Given the description of an element on the screen output the (x, y) to click on. 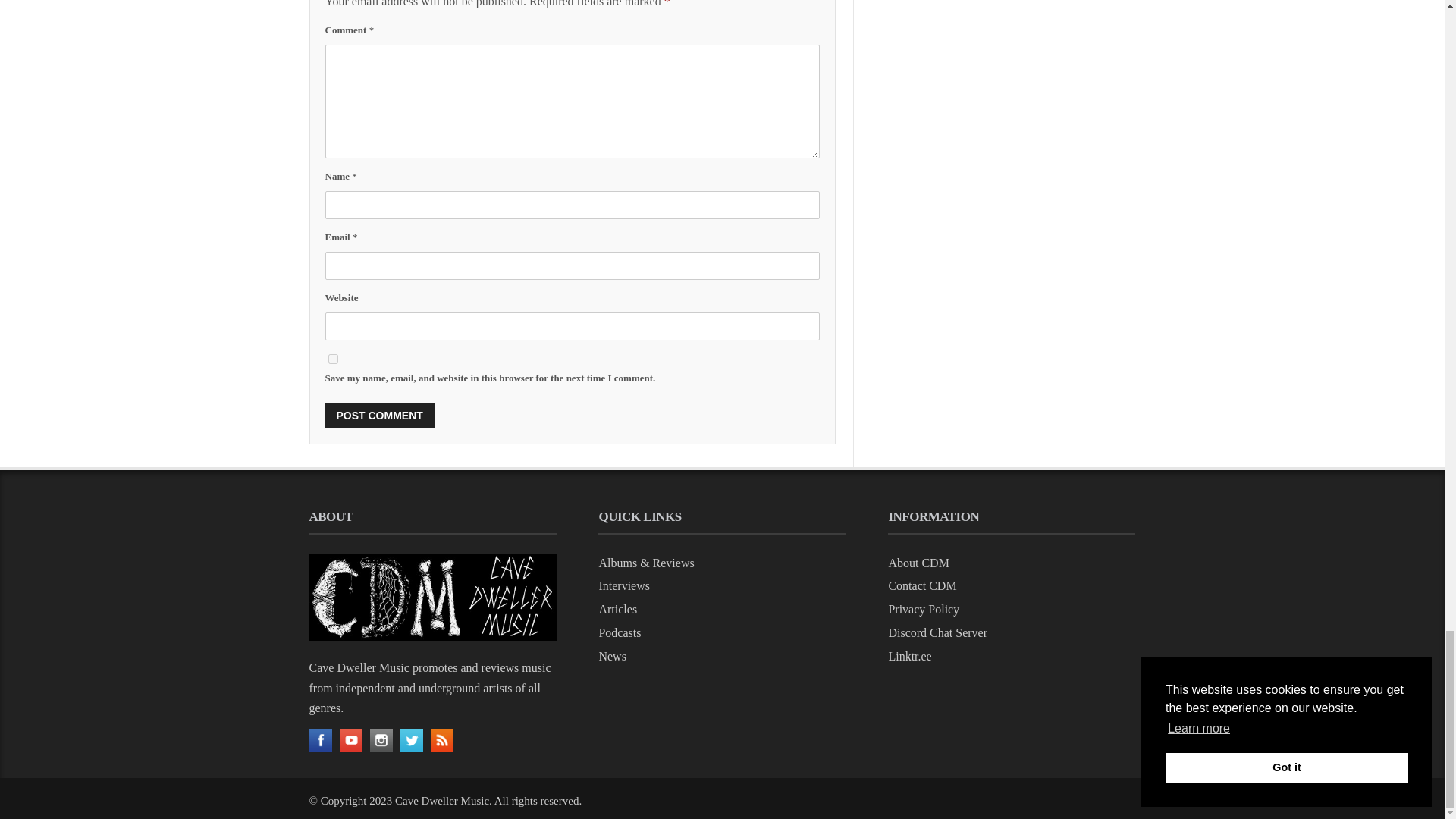
Post Comment (378, 415)
yes (332, 358)
